Given the description of an element on the screen output the (x, y) to click on. 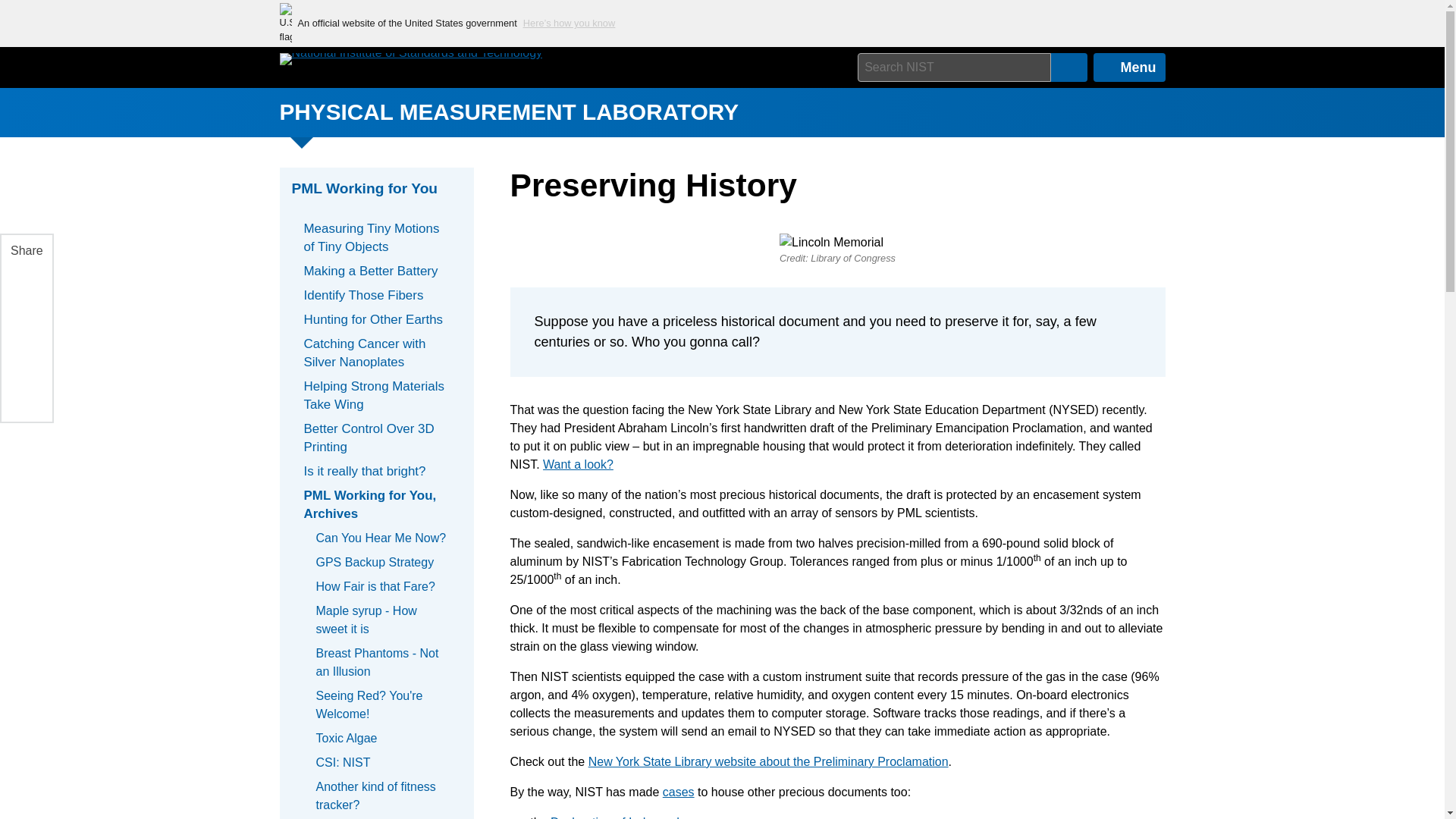
Email (25, 391)
Menu (1129, 67)
Twitter (25, 356)
Facebook (25, 285)
National Institute of Standards and Technology (410, 59)
Linkedin (25, 320)
